Given the description of an element on the screen output the (x, y) to click on. 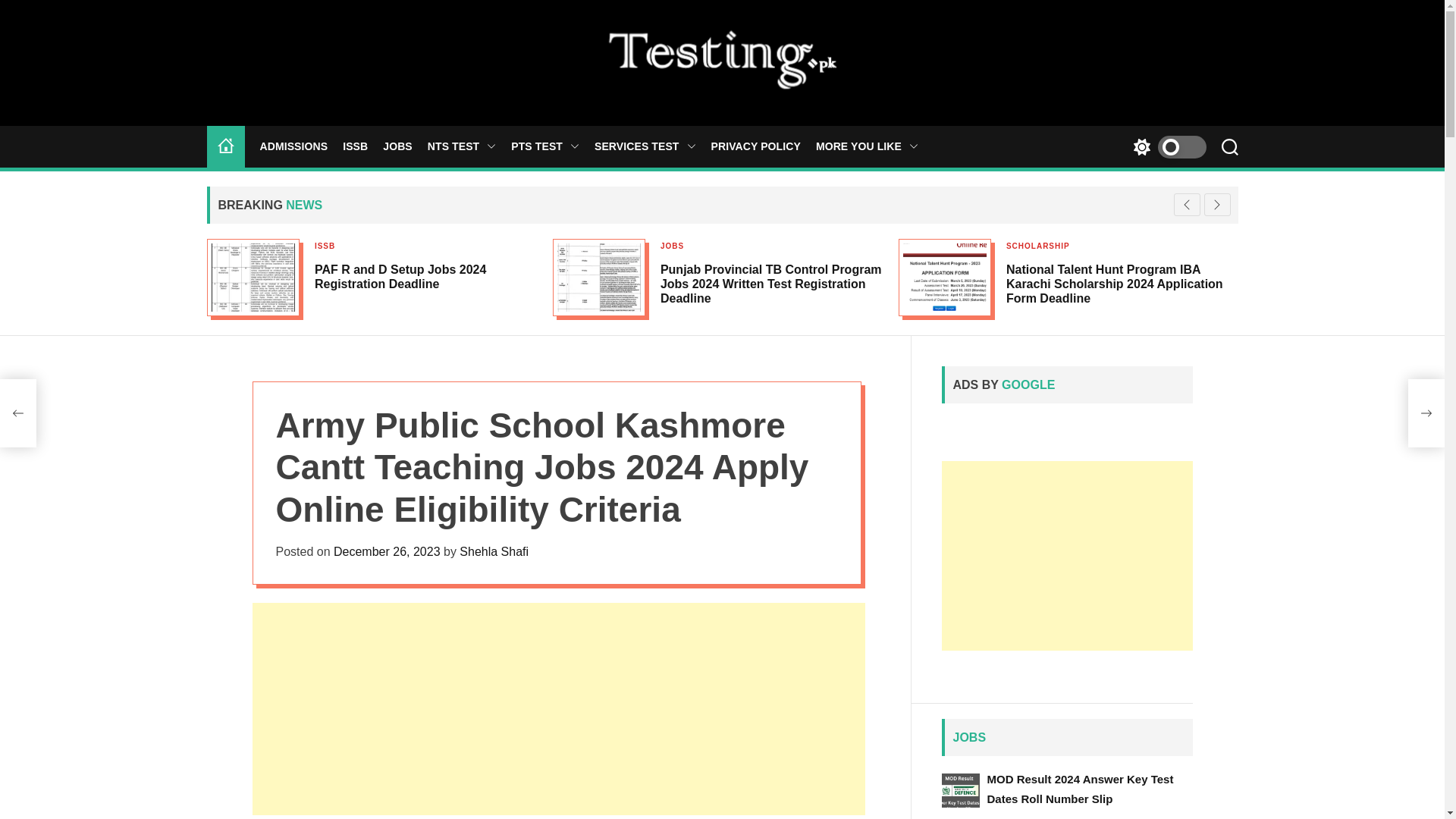
ADMISSIONS (293, 146)
Switch color mode (1165, 146)
PRIVACY POLICY (755, 146)
NTS TEST (462, 146)
ISSB (355, 146)
SERVICES TEST (644, 146)
MORE YOU LIKE (866, 146)
MOD Result 2024 Answer Key Test Dates Roll Number Slip (1080, 789)
PTS TEST (545, 146)
JOBS (397, 146)
